Given the description of an element on the screen output the (x, y) to click on. 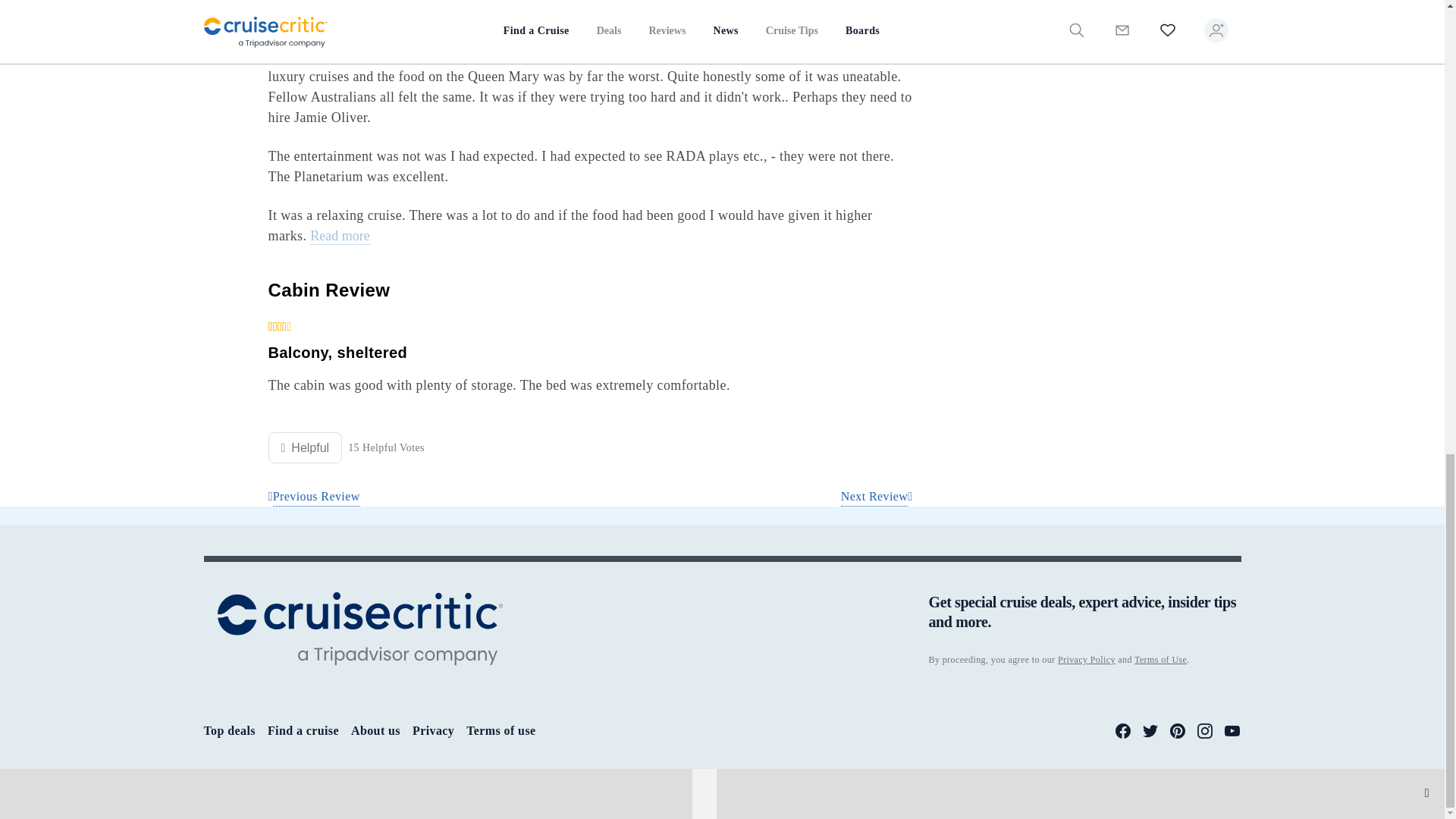
Next Review (876, 496)
Top deals (228, 730)
Terms of use (500, 730)
Privacy Policy (1086, 659)
Find a cruise (303, 730)
Previous Review (313, 496)
Privacy (433, 730)
Read more (339, 236)
Terms of Use (1160, 659)
Helpful (304, 447)
